Given the description of an element on the screen output the (x, y) to click on. 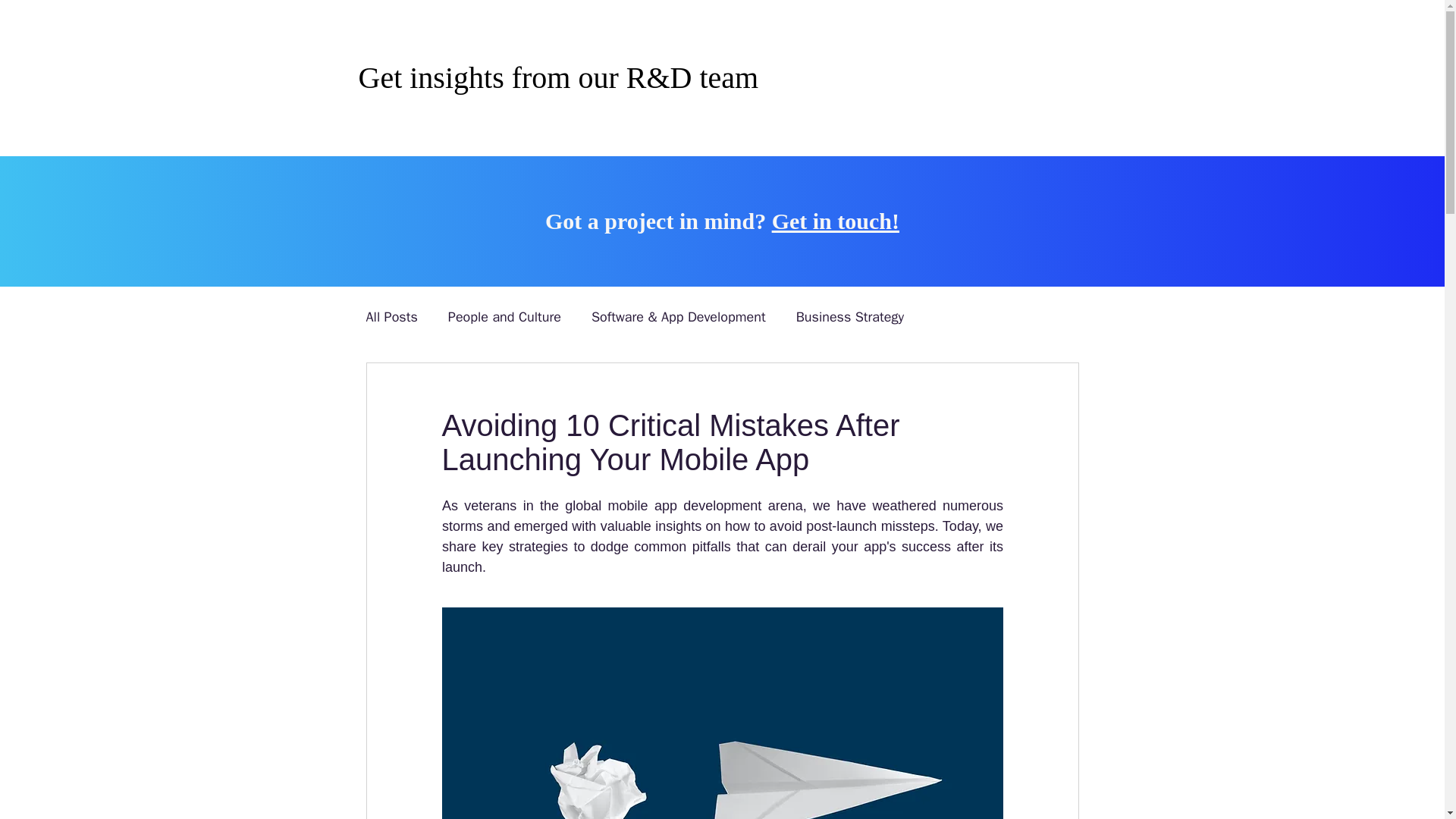
Get in touch! (835, 220)
Business Strategy (850, 316)
All Posts (390, 316)
People and Culture (504, 316)
